Given the description of an element on the screen output the (x, y) to click on. 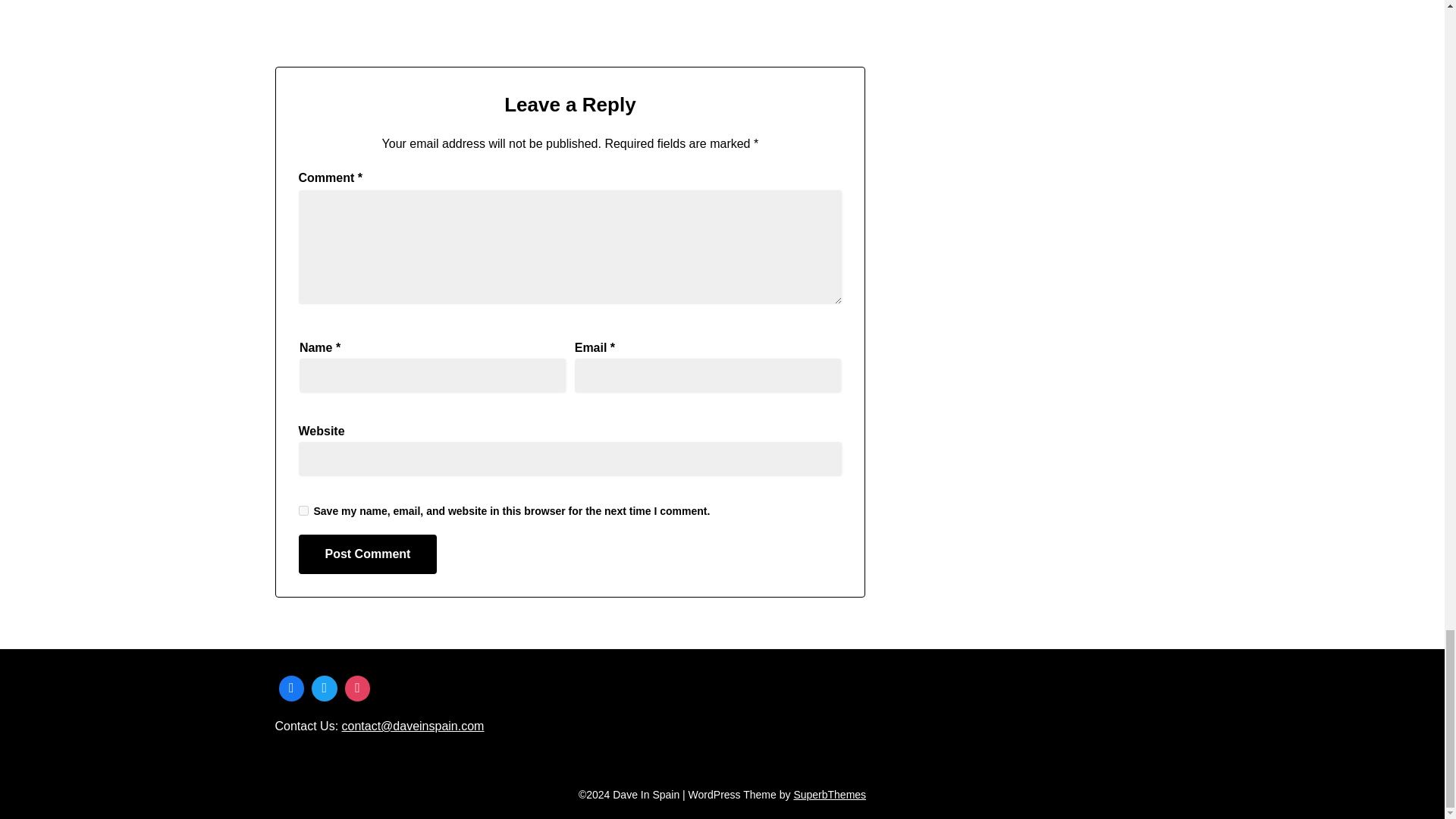
Instagram (357, 688)
yes (303, 510)
Twitter (323, 688)
Post Comment (368, 554)
Facebook (291, 688)
